Given the description of an element on the screen output the (x, y) to click on. 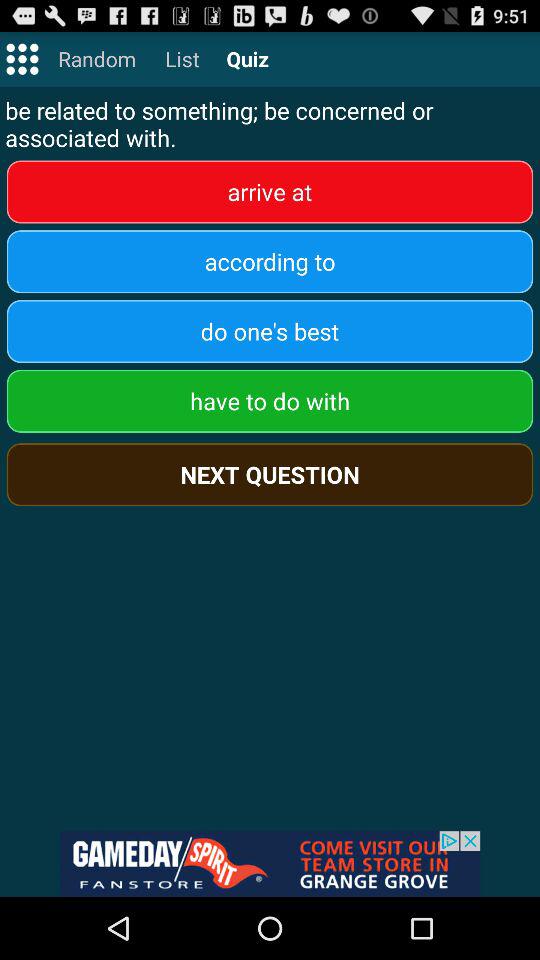
advertisement (270, 864)
